Given the description of an element on the screen output the (x, y) to click on. 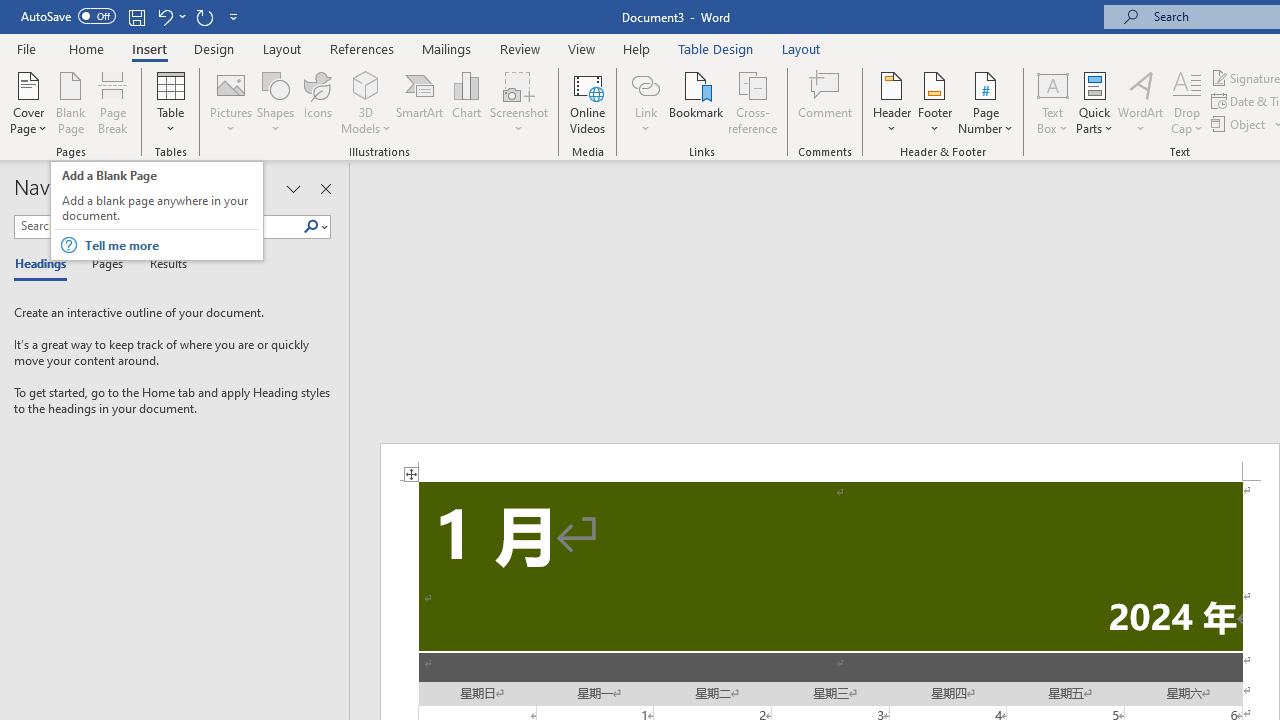
Shapes (275, 102)
Chart... (466, 102)
Pictures (230, 102)
Bookmark... (695, 102)
Comment (825, 102)
Cover Page (28, 102)
Header -Section 1- (830, 461)
Blank Page (70, 102)
Page Break (113, 102)
